Given the description of an element on the screen output the (x, y) to click on. 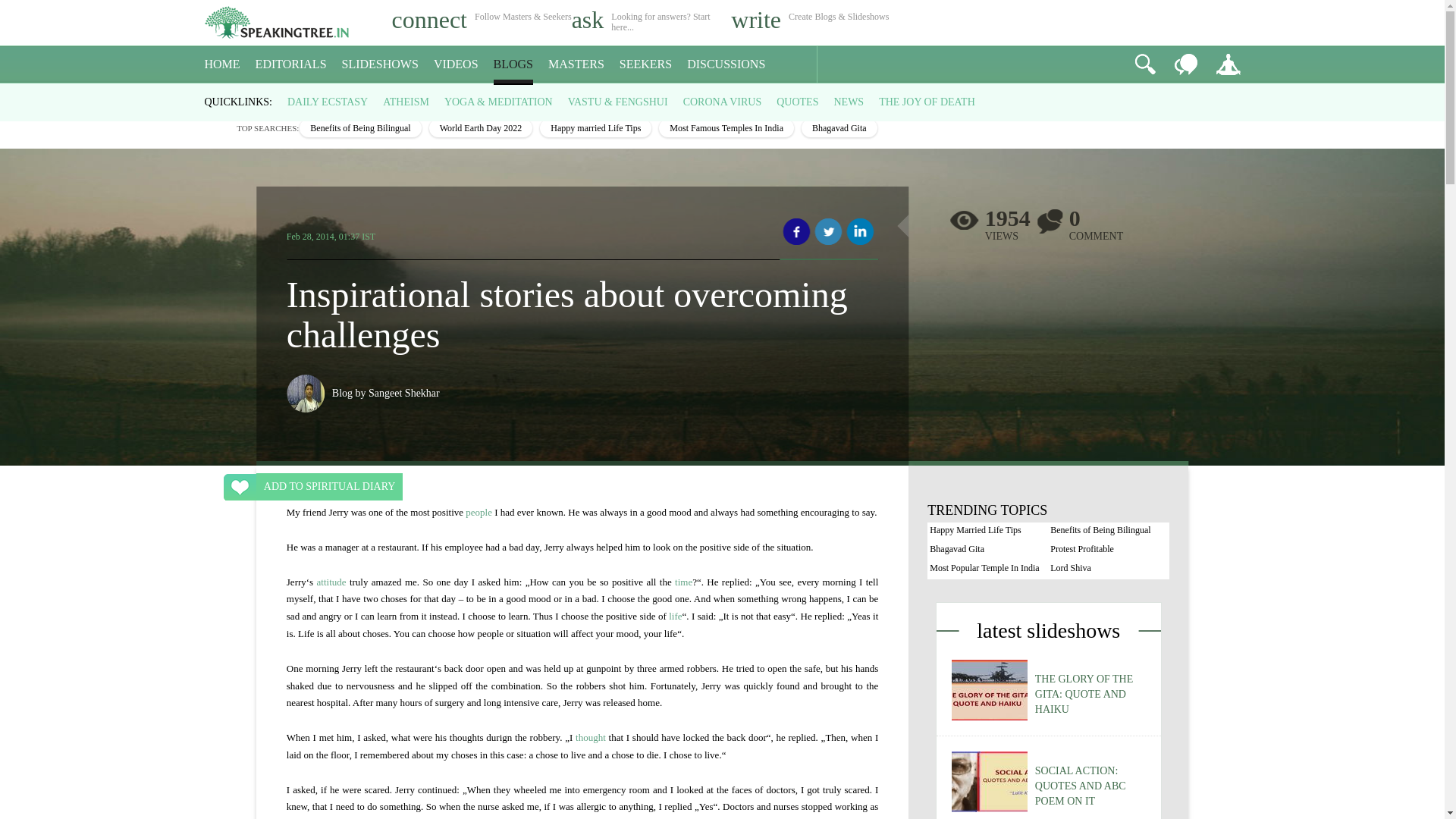
MASTERS (576, 64)
VIDEOS (456, 64)
Share on LinkedIn (860, 231)
Share on Twitter (828, 231)
DAILY ECSTASY (327, 101)
SEEKERS (645, 64)
ATHEISM (405, 101)
Blogs (251, 96)
QUOTES (797, 101)
Speaking Tree (216, 96)
THE JOY OF DEATH (927, 101)
HOME (222, 64)
NEWS (847, 101)
CORONA VIRUS (721, 101)
Share on Facebook (796, 231)
